Given the description of an element on the screen output the (x, y) to click on. 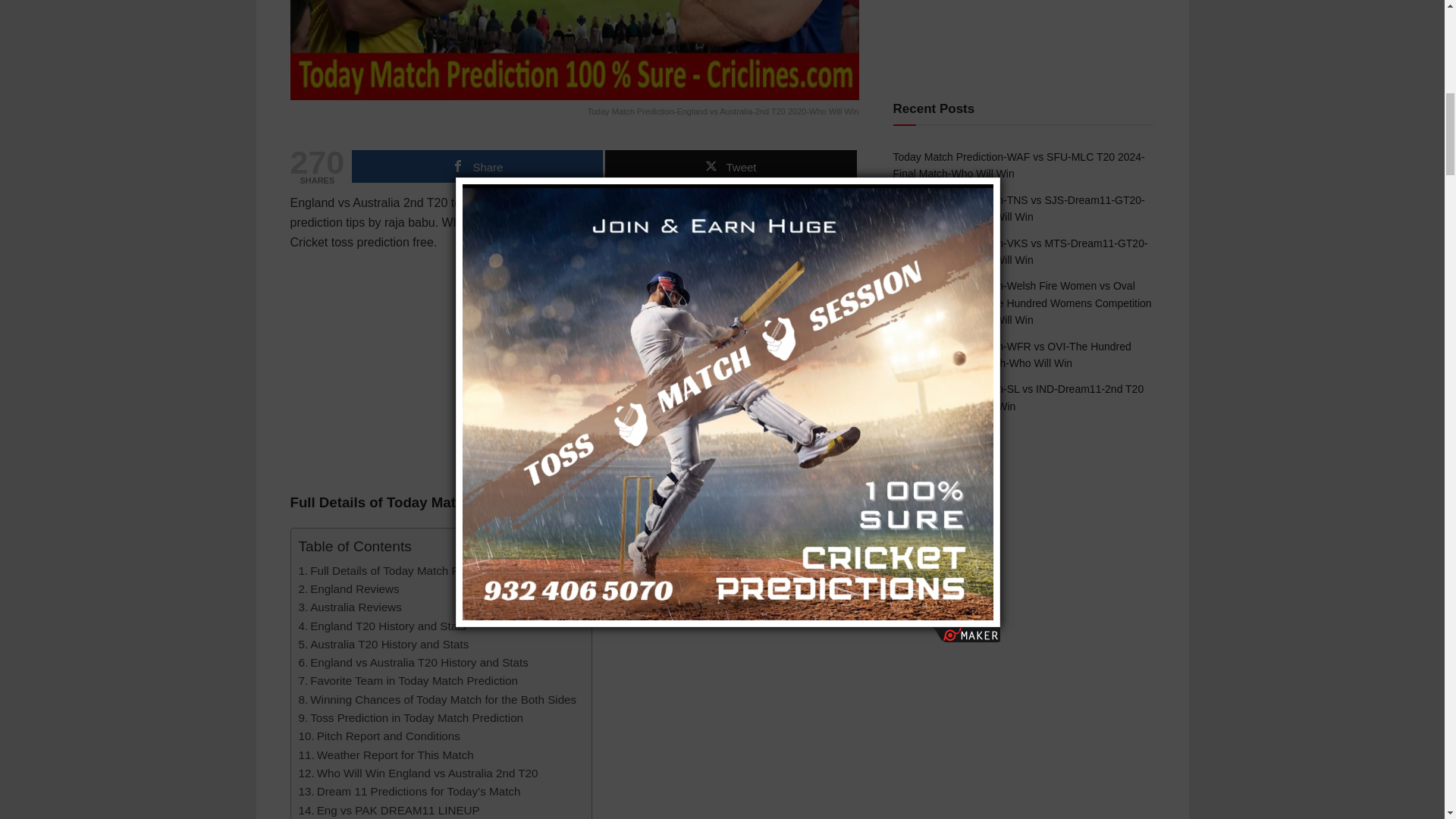
Pitch Report and Conditions (379, 736)
Toss Prediction in Today Match Prediction (411, 718)
Australia Reviews (349, 607)
Full Details of Today Match Prediction (400, 570)
England vs Australia T20 History and Stats (413, 662)
England Reviews (348, 588)
Australia T20 History and Stats (383, 644)
England T20 History and Stats (381, 626)
Favorite Team in Today Match Prediction (408, 680)
Winning Chances of Today Match for the Both Sides (437, 700)
